Given the description of an element on the screen output the (x, y) to click on. 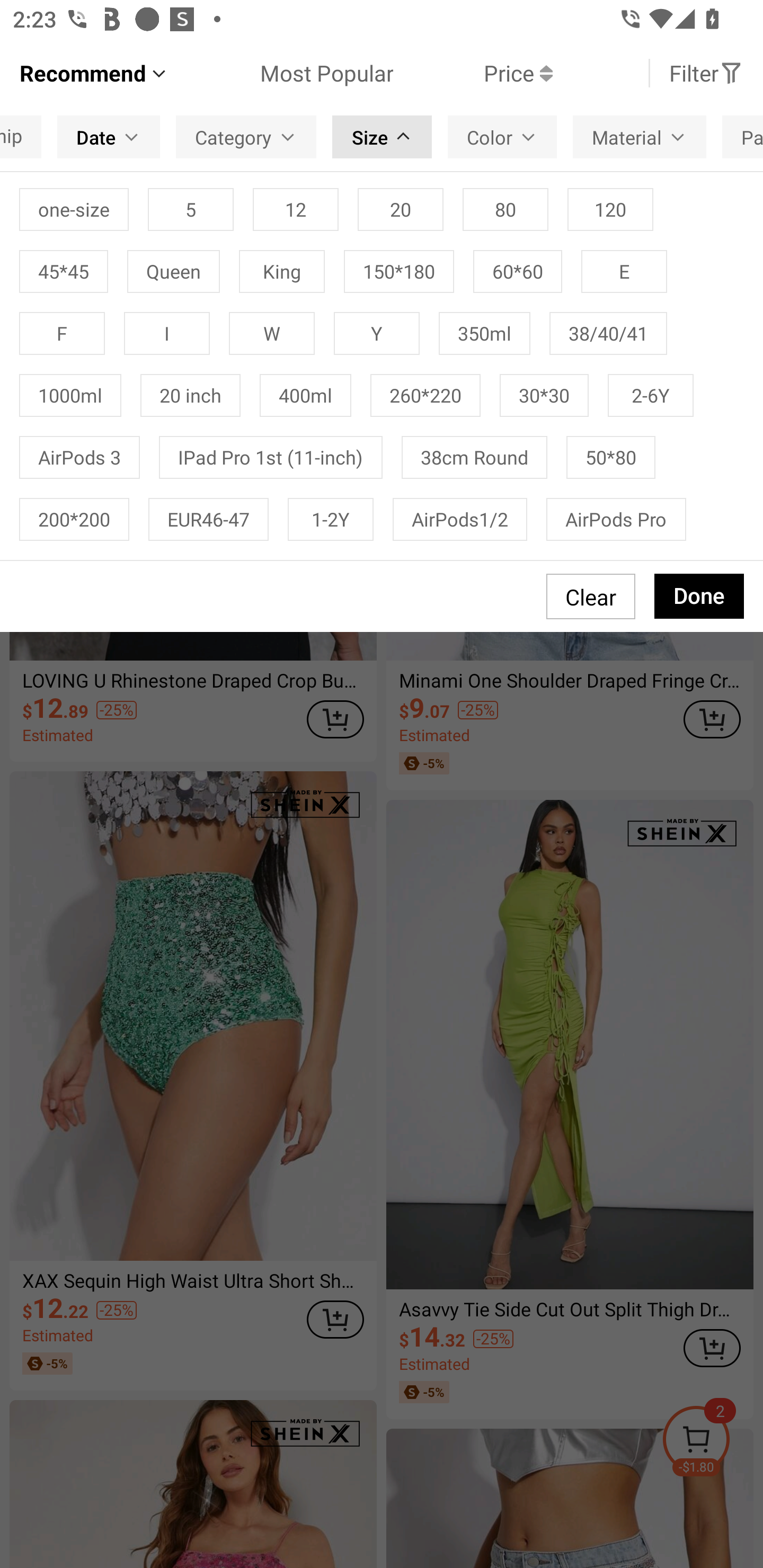
Recommend (94, 72)
Most Popular (280, 72)
Price (472, 72)
Filter (705, 72)
Date (108, 137)
Category (246, 137)
Size (381, 137)
Color (501, 137)
Material (639, 137)
